Given the description of an element on the screen output the (x, y) to click on. 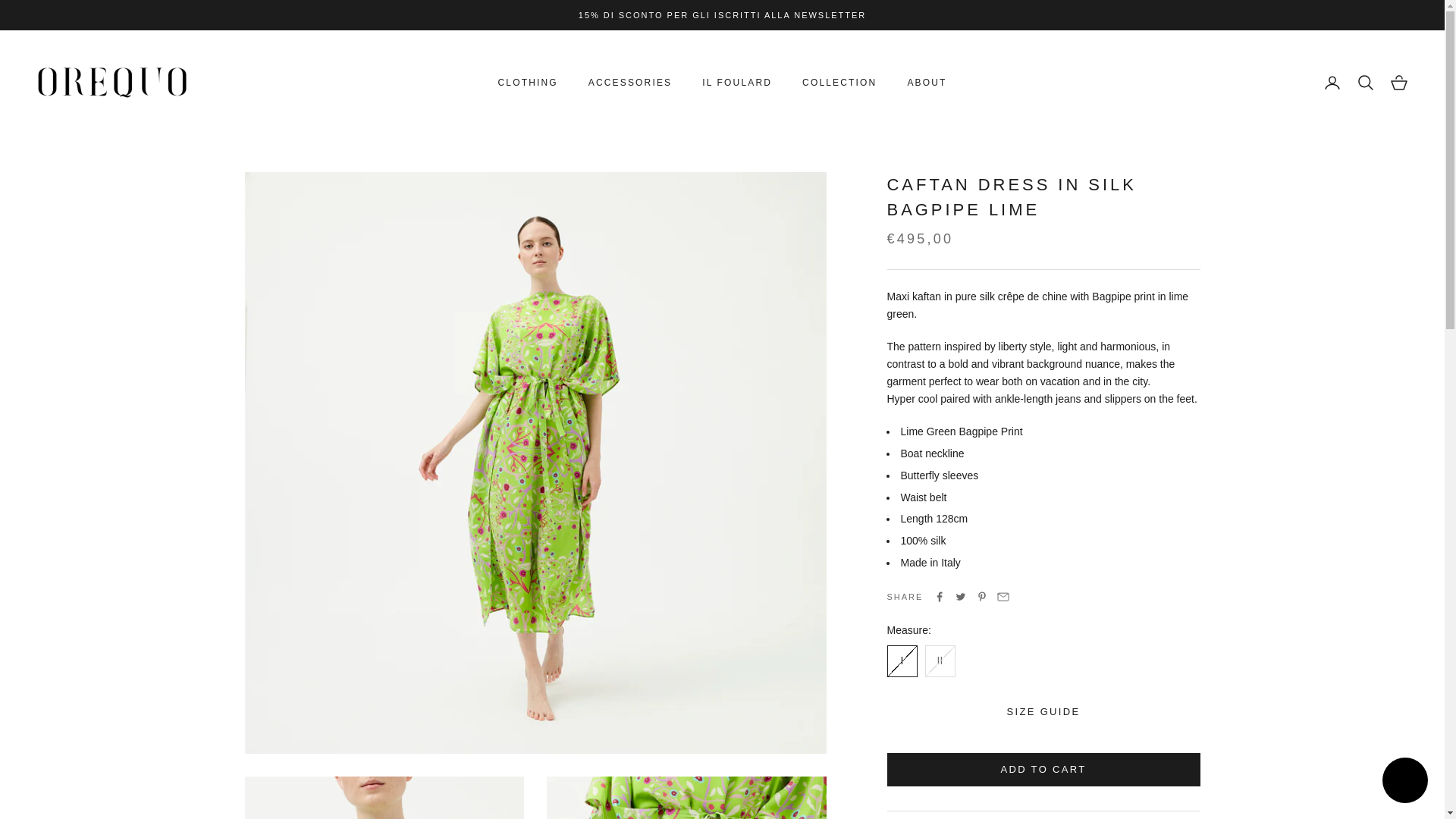
Open account page (1331, 82)
Open cart (1398, 82)
Shopify online store chat (1404, 781)
Open search (1365, 82)
IL FOULARD (736, 82)
OREQUO (111, 82)
